Given the description of an element on the screen output the (x, y) to click on. 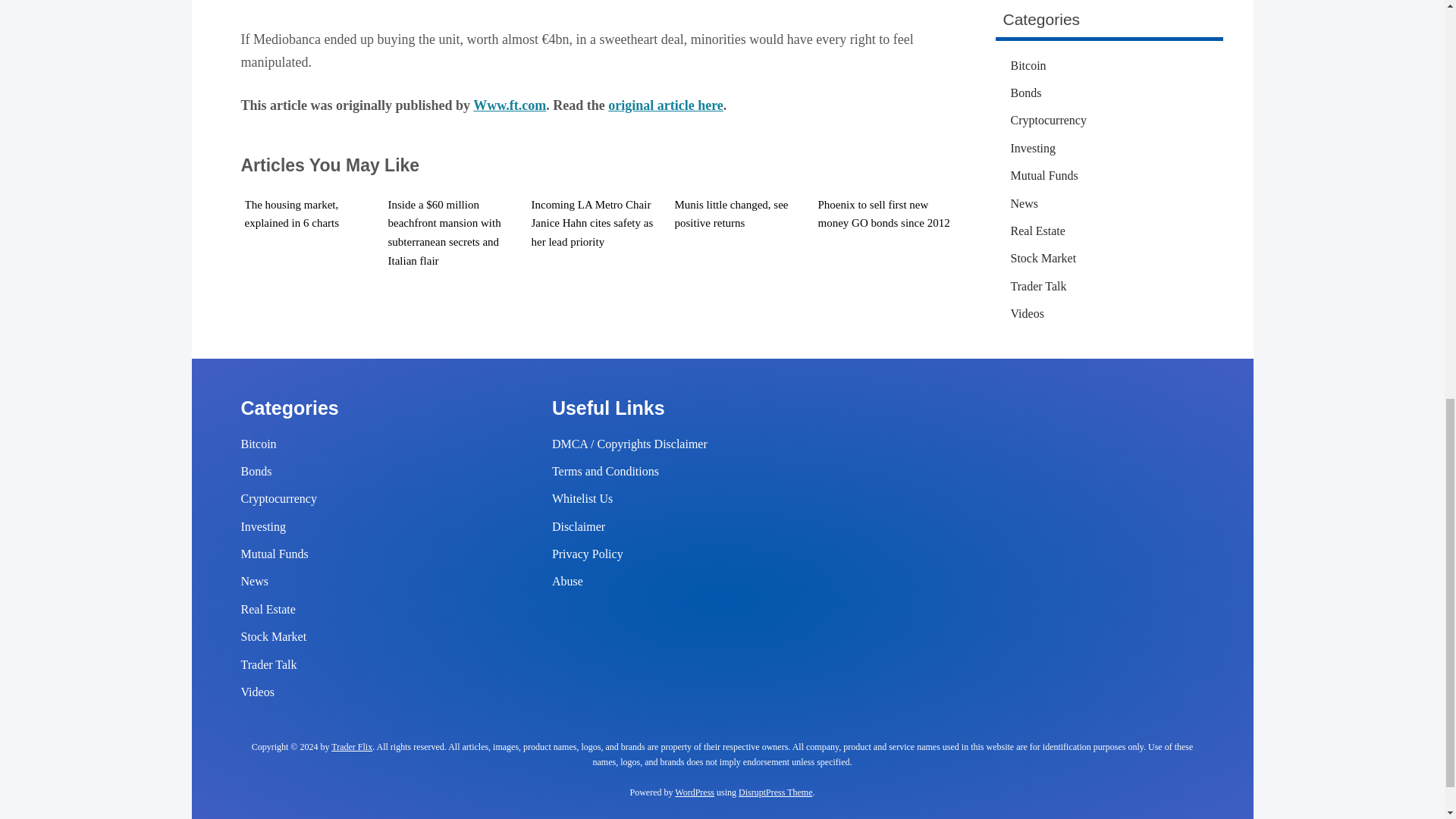
original article here (665, 105)
Www.ft.com (509, 105)
The housing market, explained in 6 charts (291, 214)
